Given the description of an element on the screen output the (x, y) to click on. 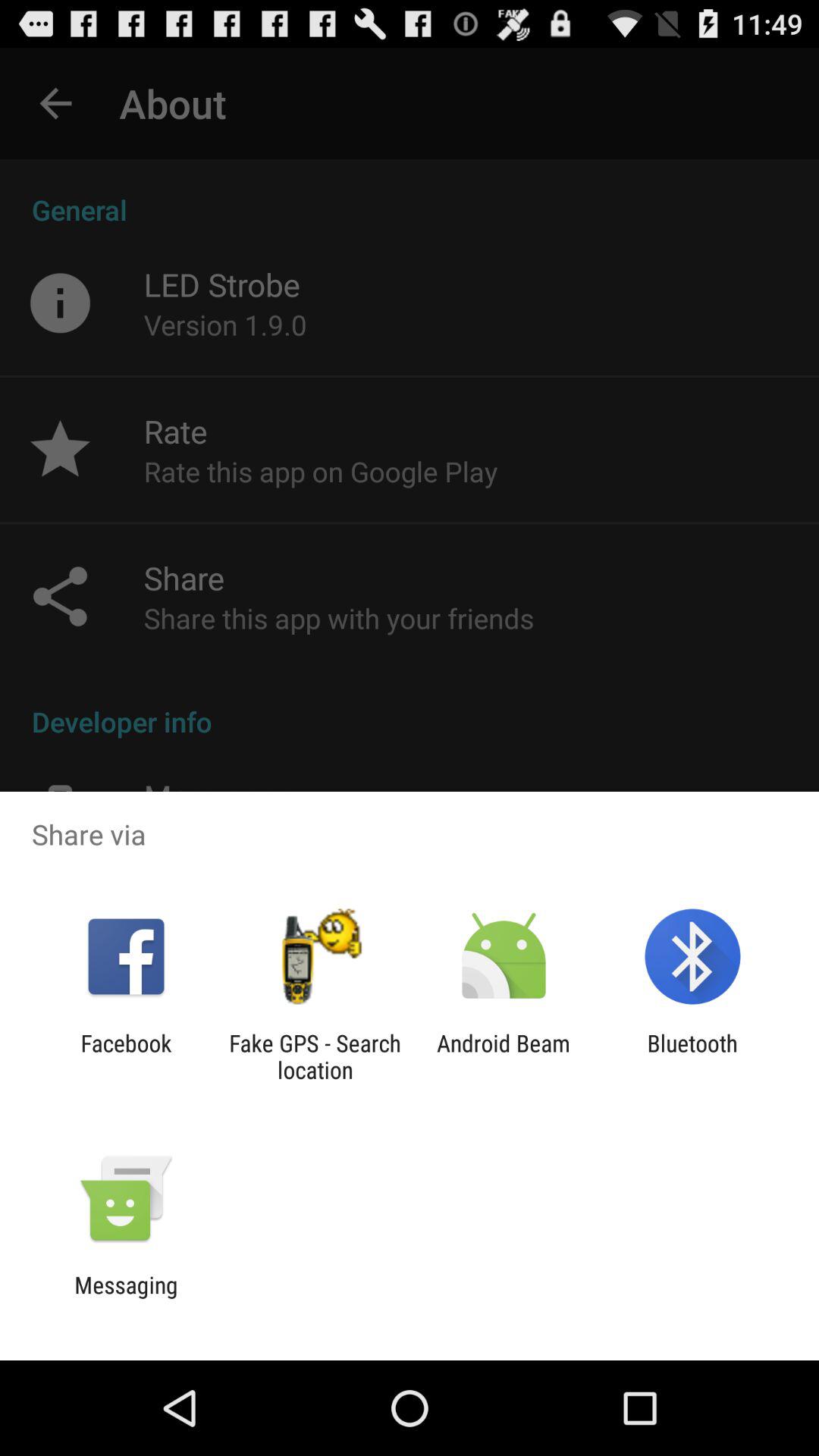
open the icon next to the fake gps search app (503, 1056)
